Given the description of an element on the screen output the (x, y) to click on. 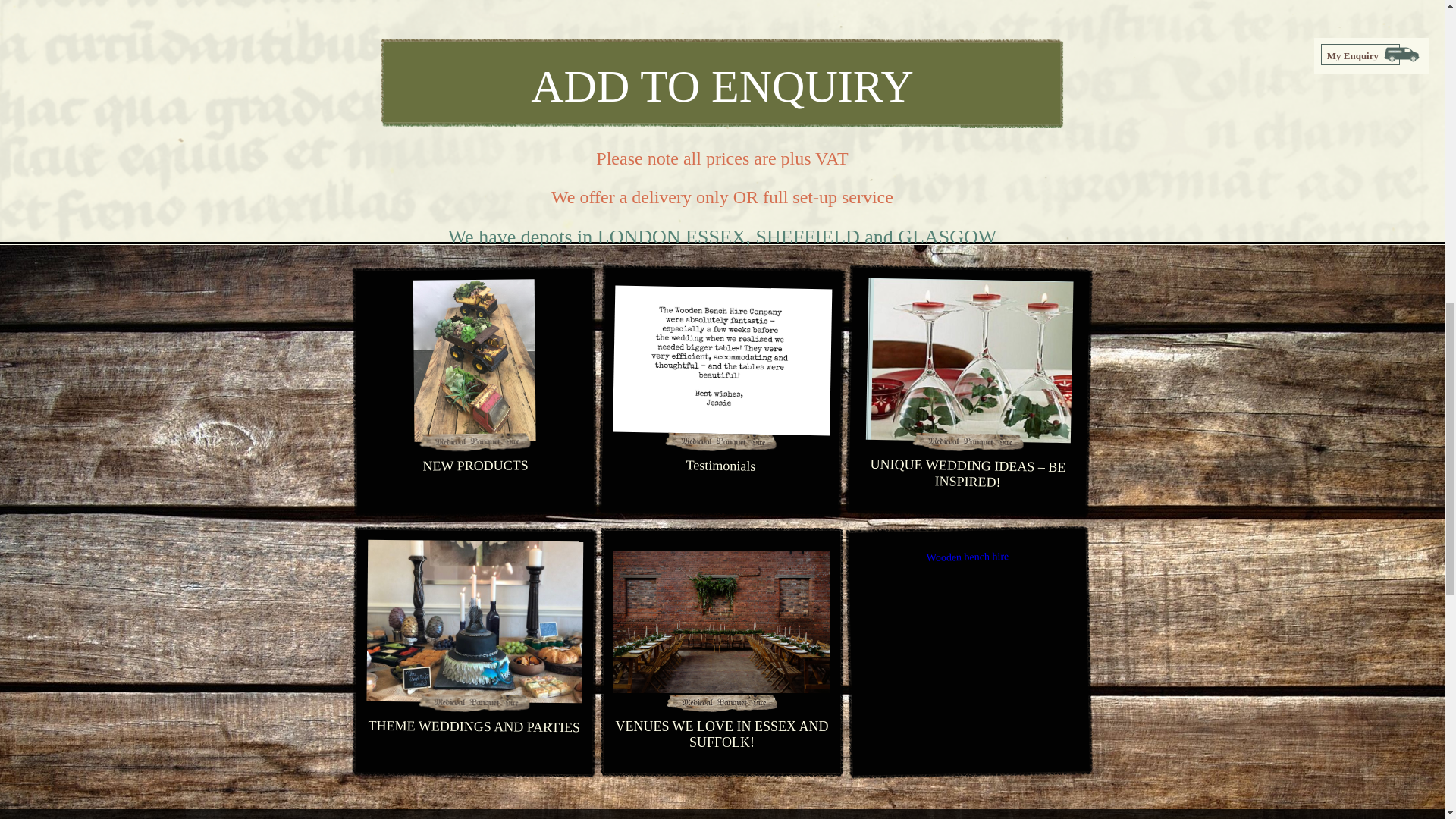
ADD TO ENQUIRY (722, 82)
Wooden bench hire (967, 555)
